Given the description of an element on the screen output the (x, y) to click on. 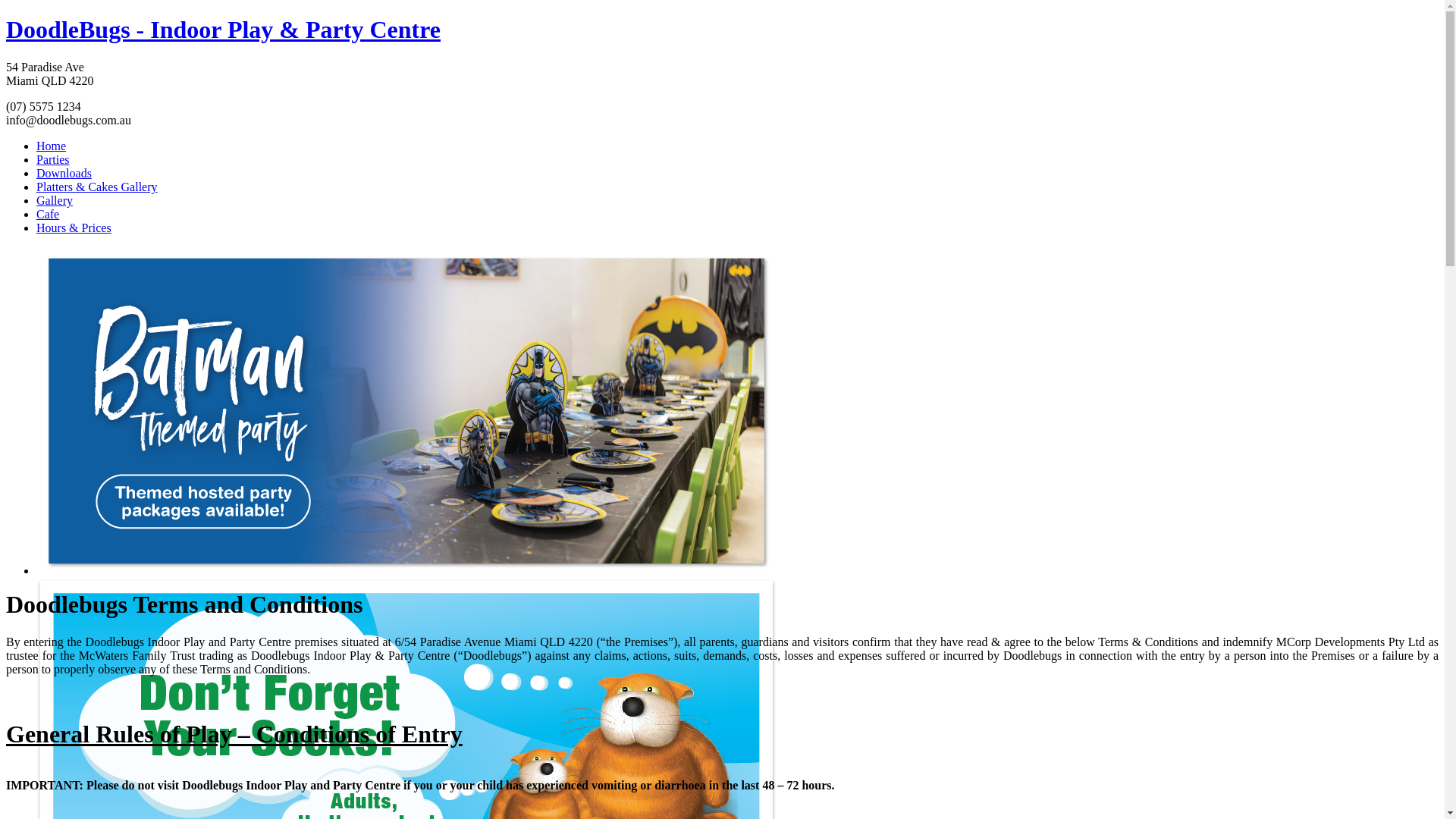
Hours & Prices Element type: text (73, 227)
Gallery Element type: text (54, 200)
Platters & Cakes Gallery Element type: text (96, 186)
Downloads Element type: text (63, 172)
DoodleBugs - Indoor Play & Party Centre Element type: text (223, 29)
Cafe Element type: text (47, 213)
Parties Element type: text (52, 159)
Home Element type: text (50, 145)
